Given the description of an element on the screen output the (x, y) to click on. 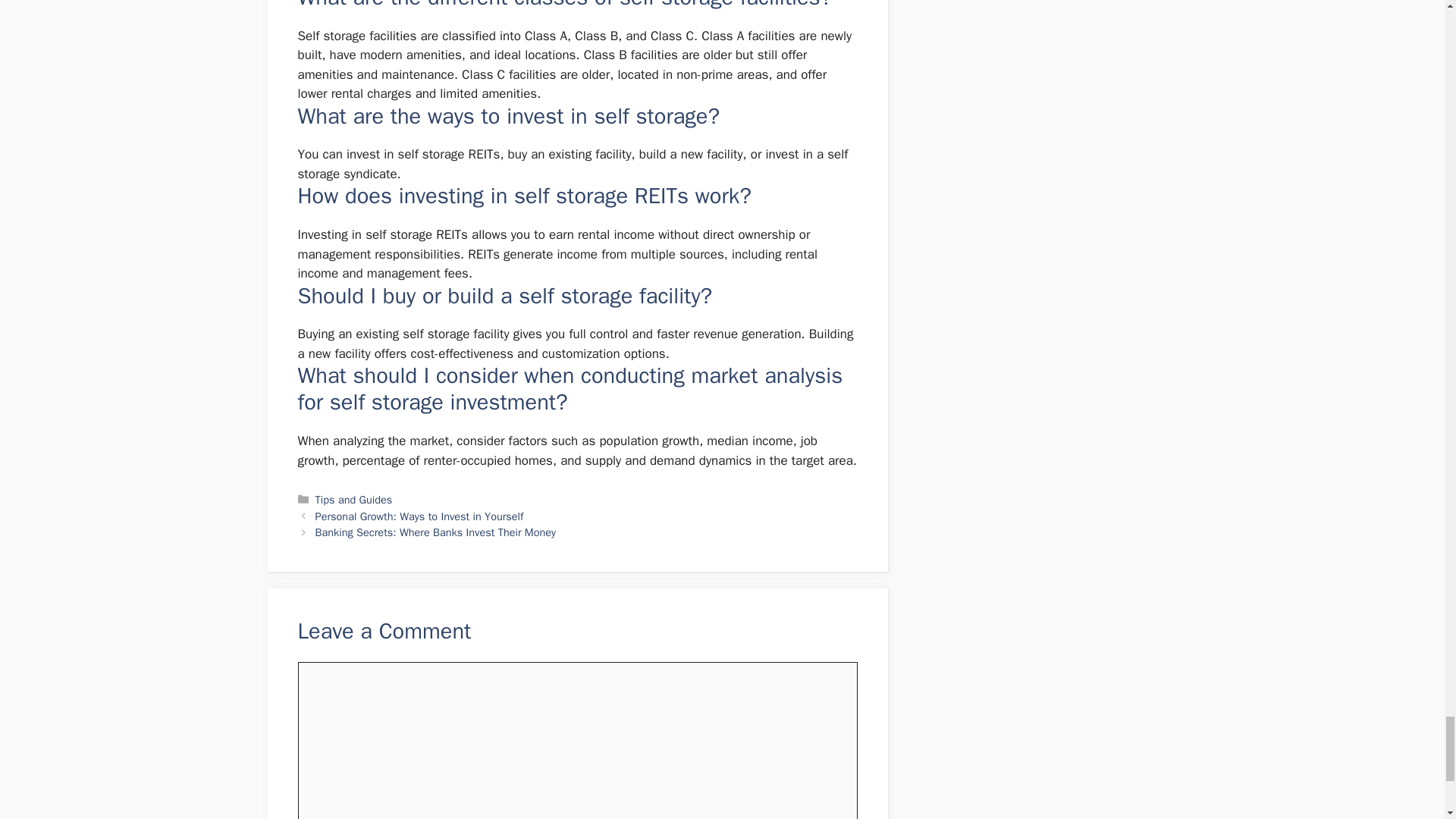
Tips and Guides (354, 499)
Banking Secrets: Where Banks Invest Their Money (435, 531)
Personal Growth: Ways to Invest in Yourself (419, 516)
